Given the description of an element on the screen output the (x, y) to click on. 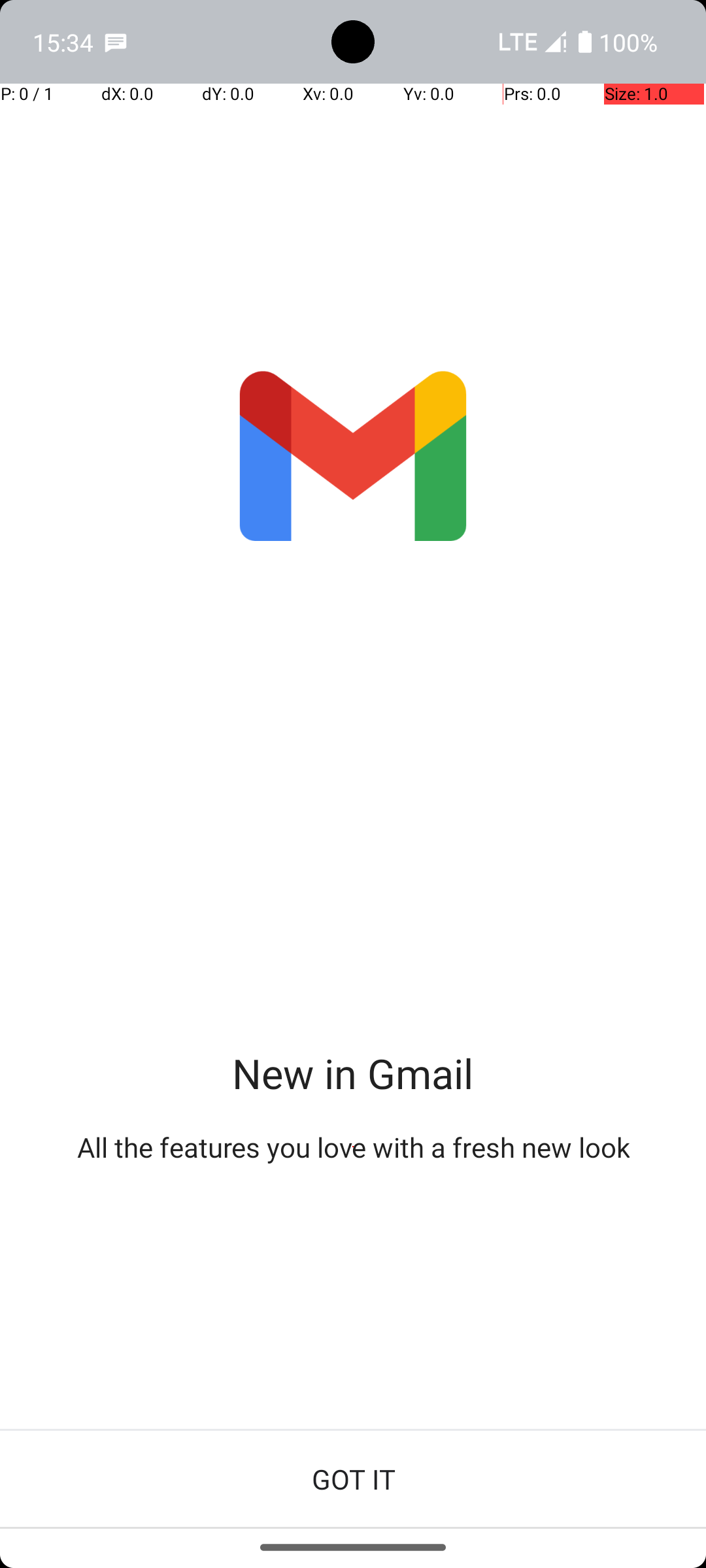
GOT IT Element type: android.widget.TextView (353, 1478)
New in Gmail Element type: android.widget.TextView (352, 1072)
All the features you love with a fresh new look Element type: android.widget.TextView (352, 1146)
